Given the description of an element on the screen output the (x, y) to click on. 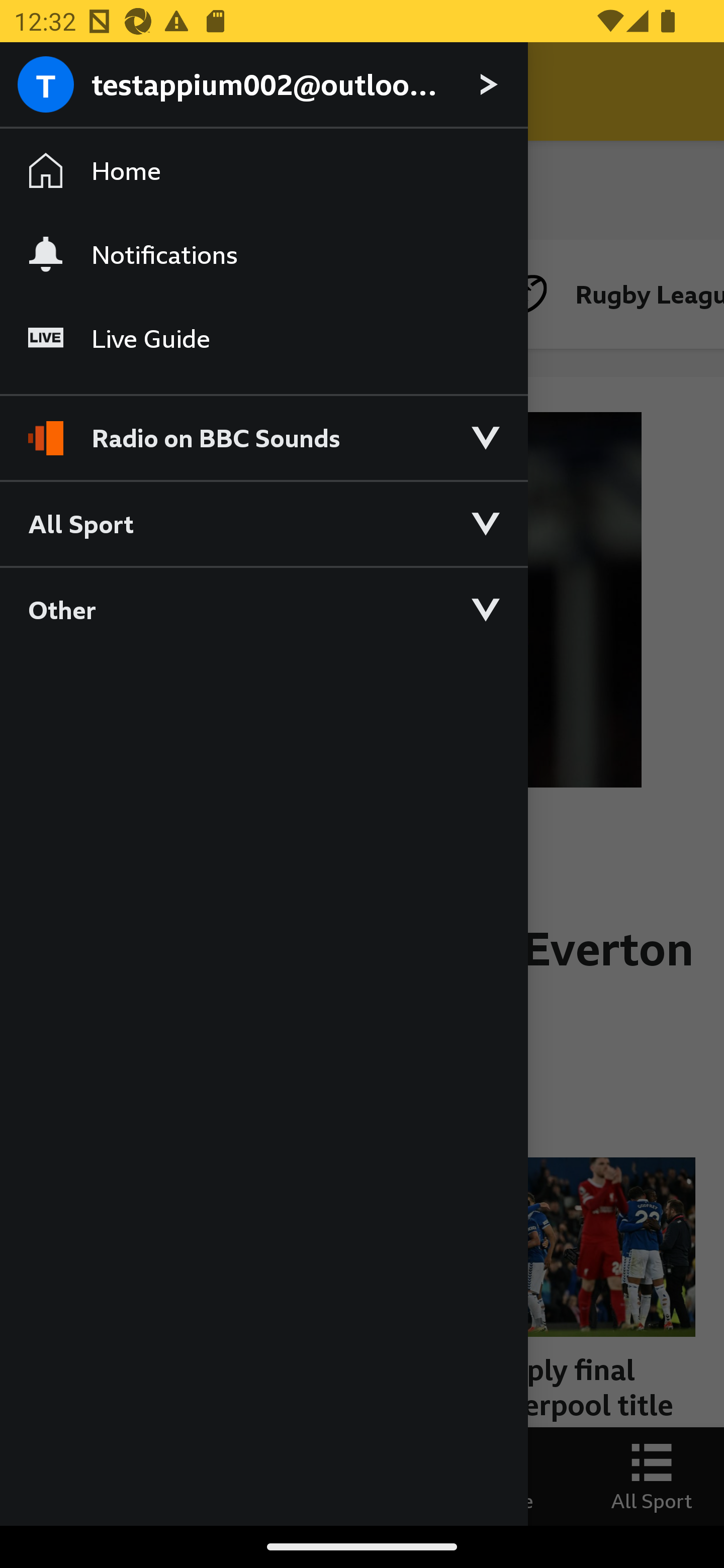
testappium002@outlook.com (263, 85)
Home (263, 170)
Notifications (263, 253)
Live Guide (263, 338)
Radio on BBC Sounds (263, 429)
All Sport (263, 522)
Other (263, 609)
